Given the description of an element on the screen output the (x, y) to click on. 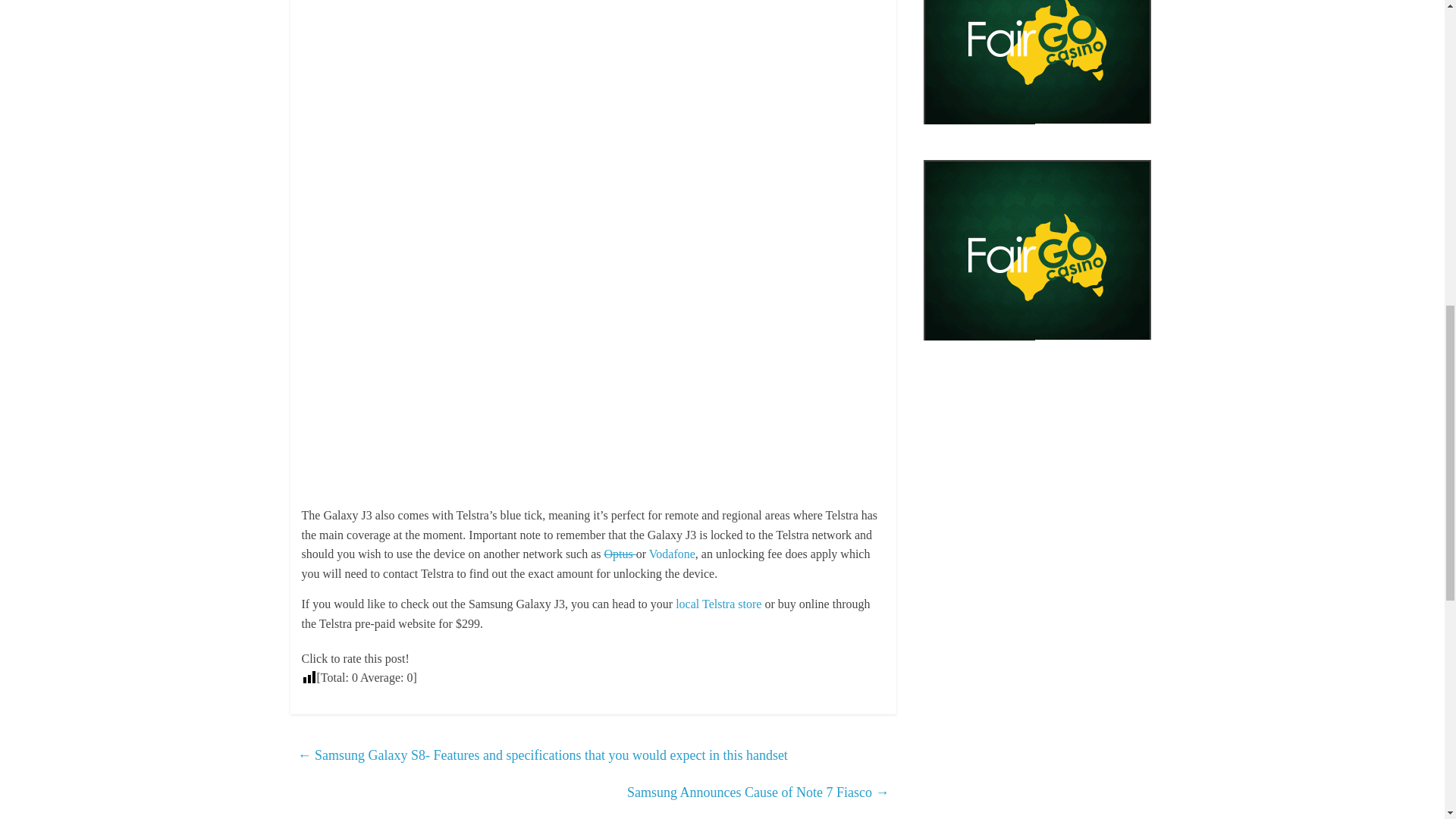
local Telstra store (718, 603)
Vodafone (672, 553)
Optus (620, 553)
